Given the description of an element on the screen output the (x, y) to click on. 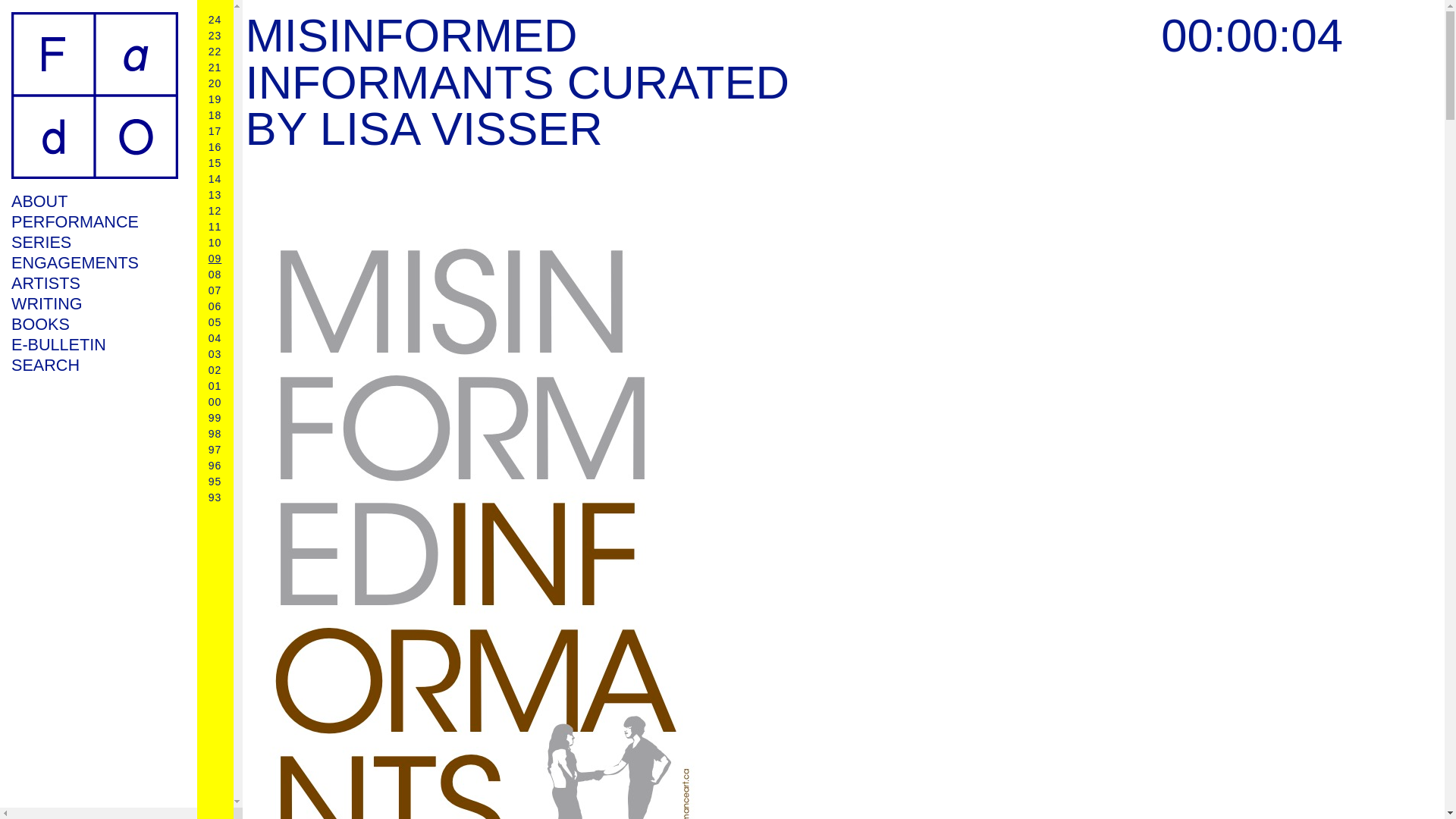
WRITING (94, 303)
08 (215, 274)
15 (215, 162)
SERIES (94, 241)
20 (215, 82)
13 (215, 194)
21 (215, 67)
24 (215, 19)
E-BULLETIN (94, 344)
23 (215, 35)
